Given the description of an element on the screen output the (x, y) to click on. 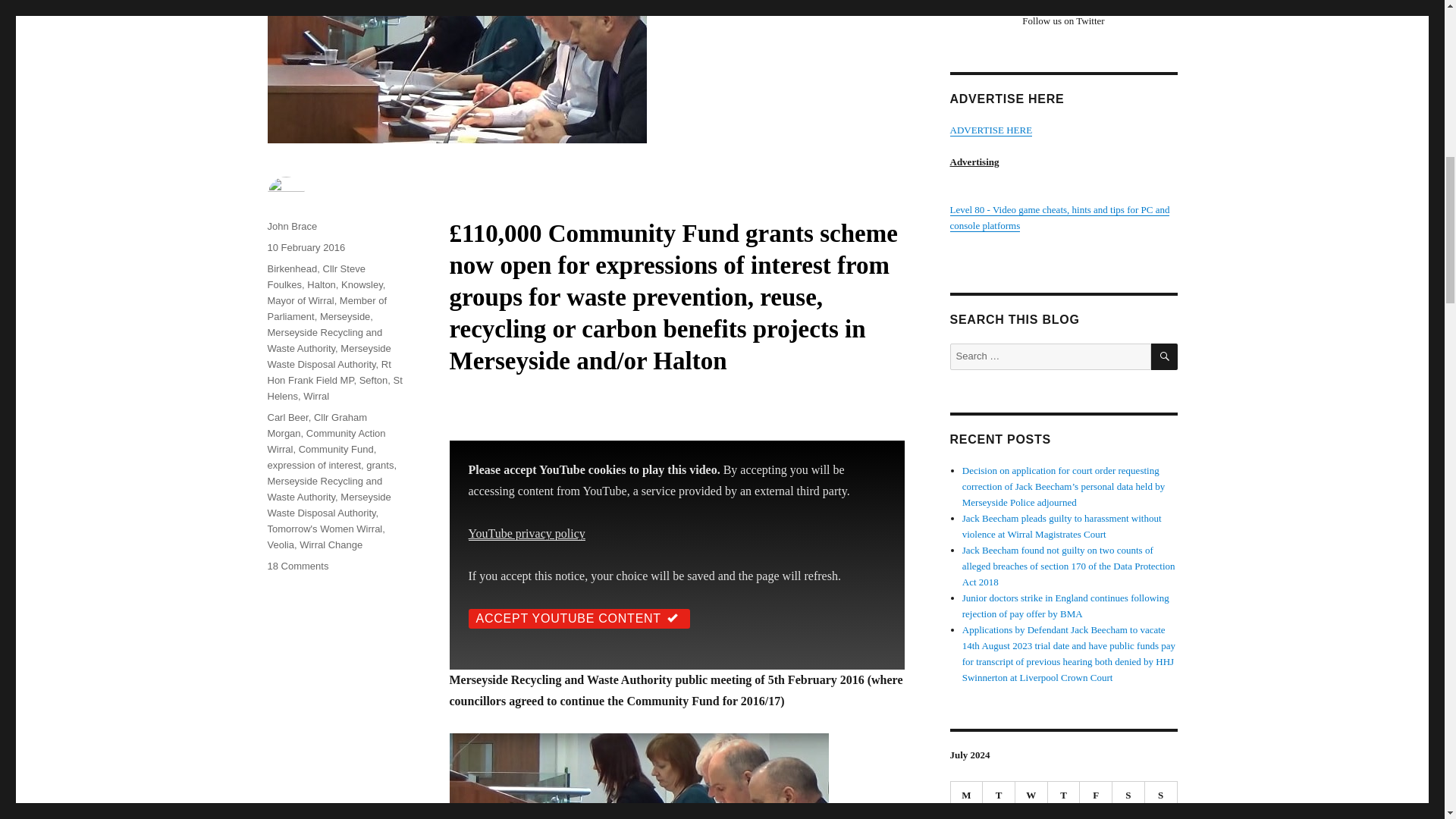
Tuesday (998, 795)
Birkenhead (291, 268)
Saturday (1128, 795)
Knowsley (361, 284)
John Brace (291, 225)
Rt Hon Frank Field MP (328, 371)
Member of Parliament (326, 308)
Friday (1096, 795)
Merseyside Waste Disposal Authority (328, 356)
Merseyside (344, 316)
